Given the description of an element on the screen output the (x, y) to click on. 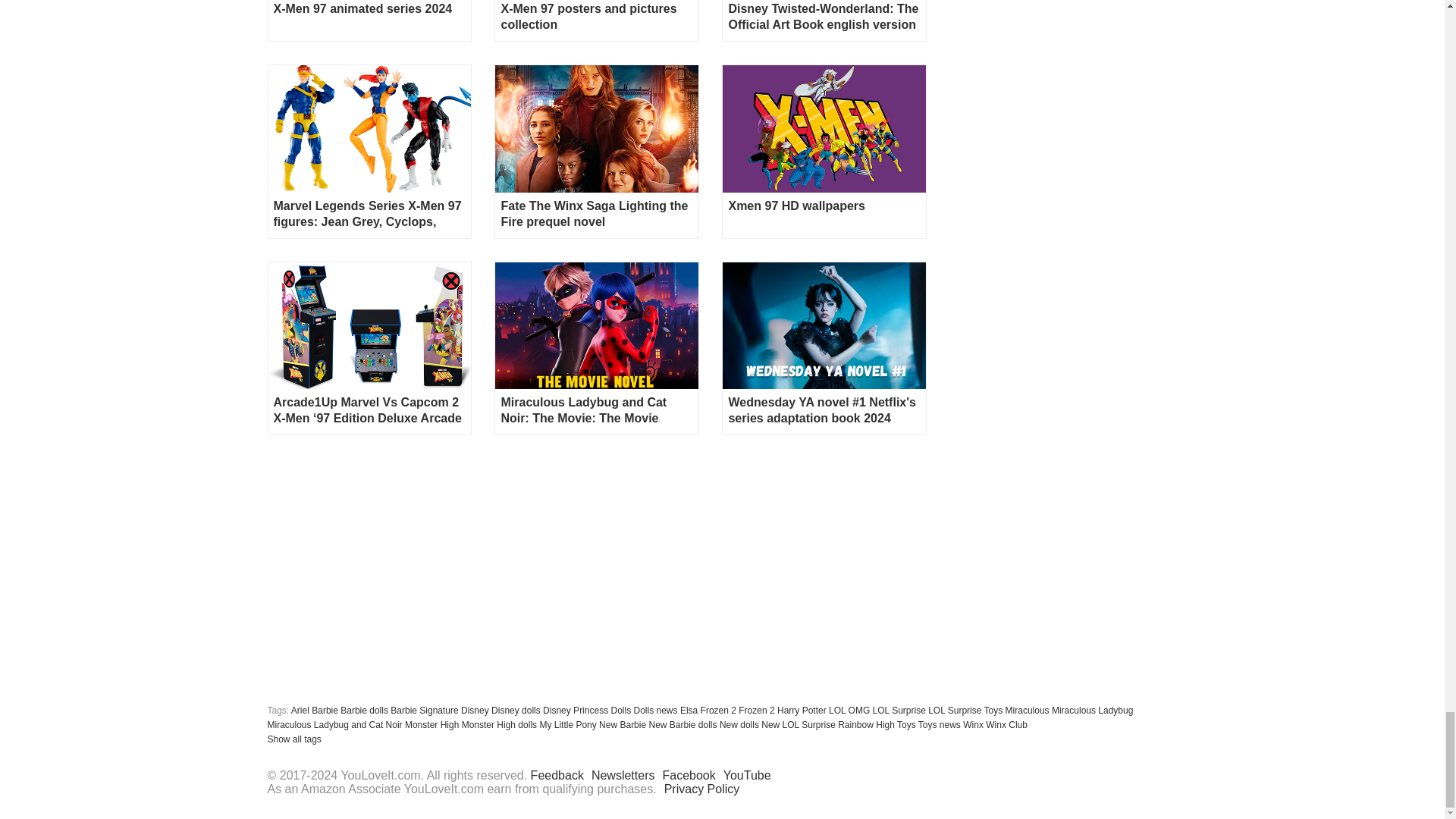
X-Men 97 animated series 2024 (369, 16)
Fate The Winx Saga Lighting the Fire prequel novel (596, 128)
Xmen 97 HD wallpapers (824, 214)
Xmen 97 HD wallpapers (824, 128)
Fate The Winx Saga Lighting the Fire prequel novel (596, 214)
X-Men 97 animated series 2024 (369, 16)
X-Men 97 posters and pictures collection (596, 16)
